Given the description of an element on the screen output the (x, y) to click on. 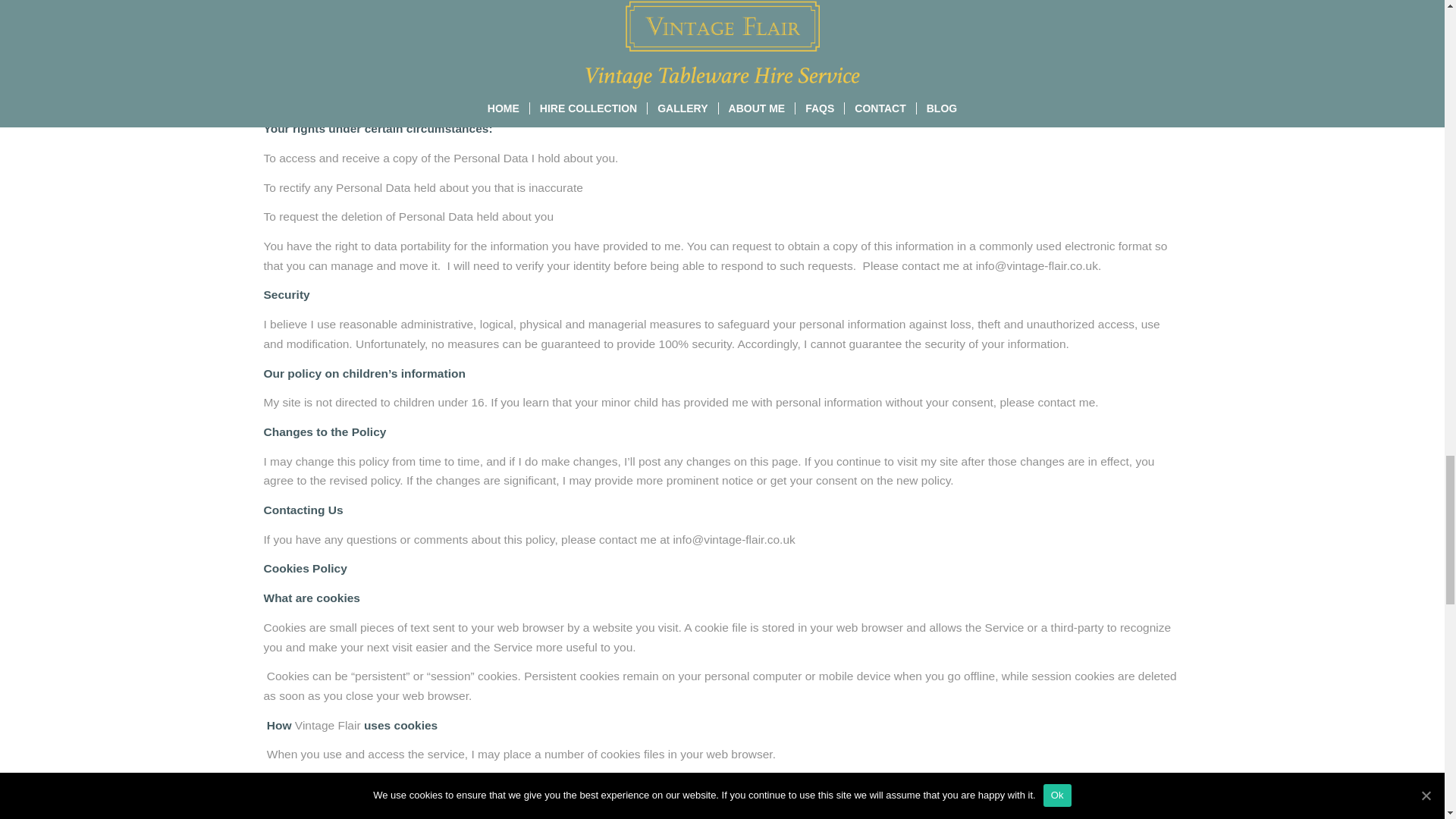
Digital Advertising Alliance (899, 60)
